Given the description of an element on the screen output the (x, y) to click on. 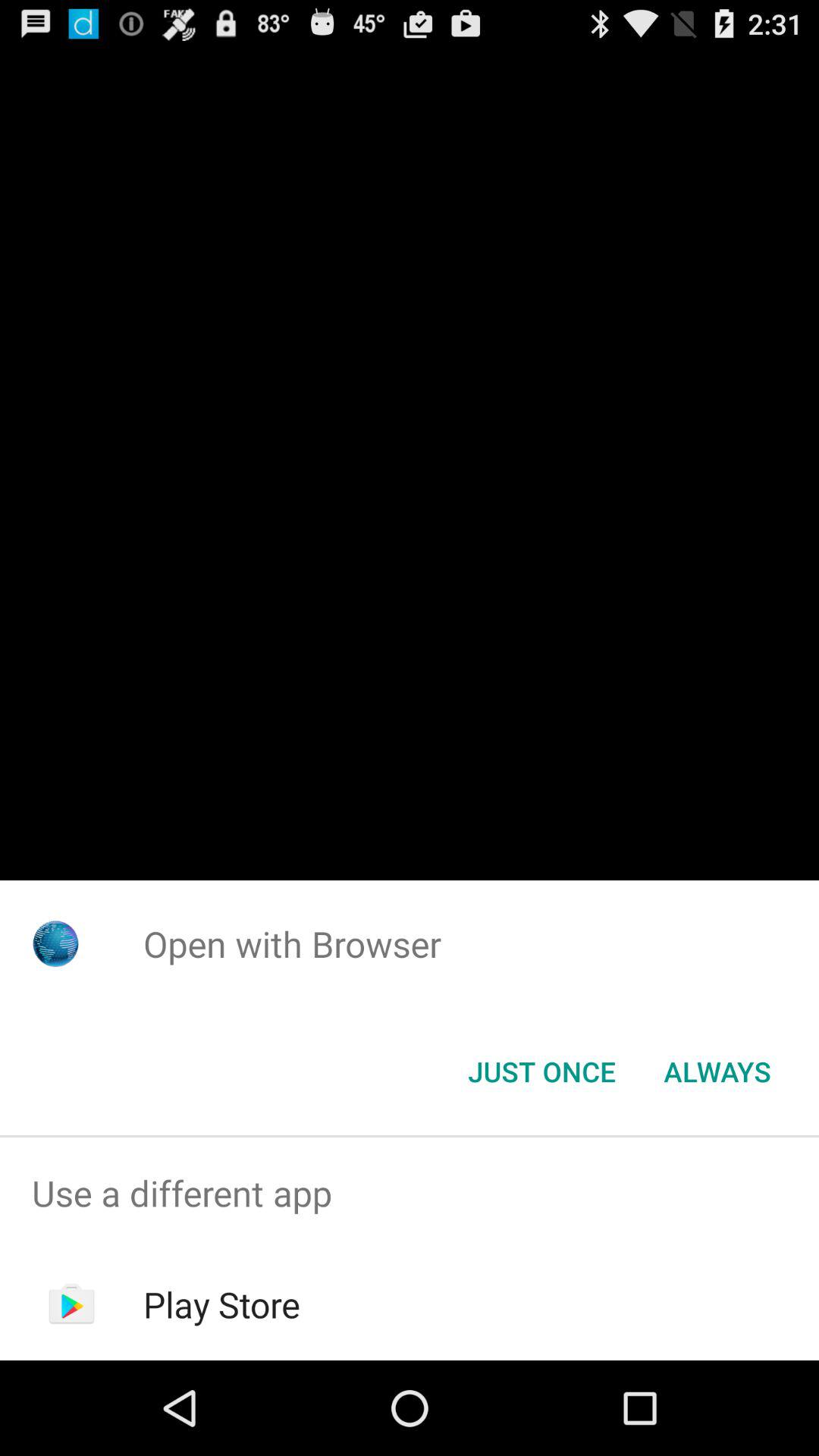
select button to the left of always icon (541, 1071)
